Given the description of an element on the screen output the (x, y) to click on. 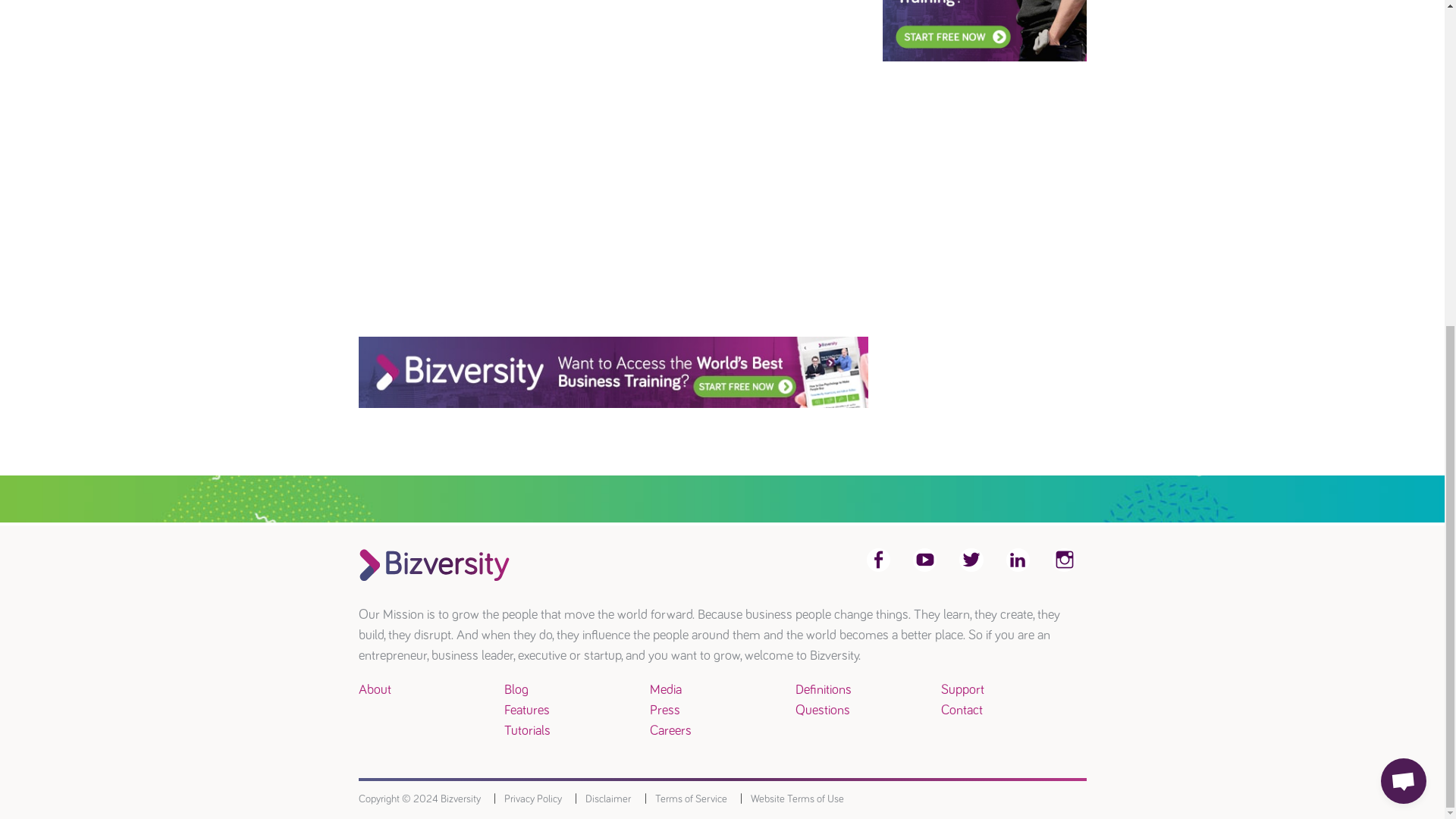
Bizversity (984, 30)
